Given the description of an element on the screen output the (x, y) to click on. 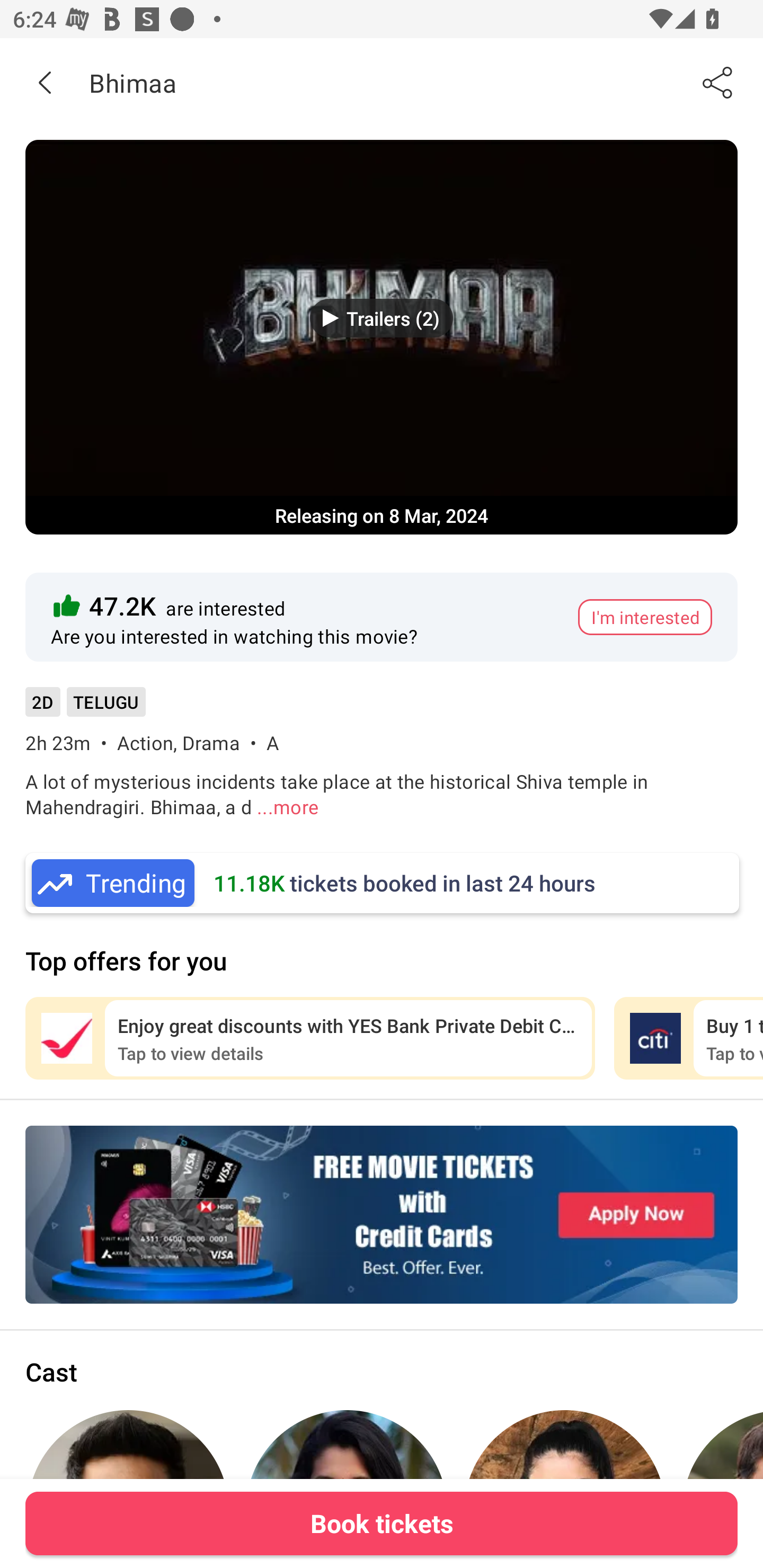
Back (44, 82)
Share (718, 82)
Movie Banner Trailers (2) Releasing on 8 Mar, 2024 (381, 336)
Trailers (2) (381, 318)
I'm interested (644, 616)
2D TELUGU (85, 707)
Book tickets (381, 1523)
